Given the description of an element on the screen output the (x, y) to click on. 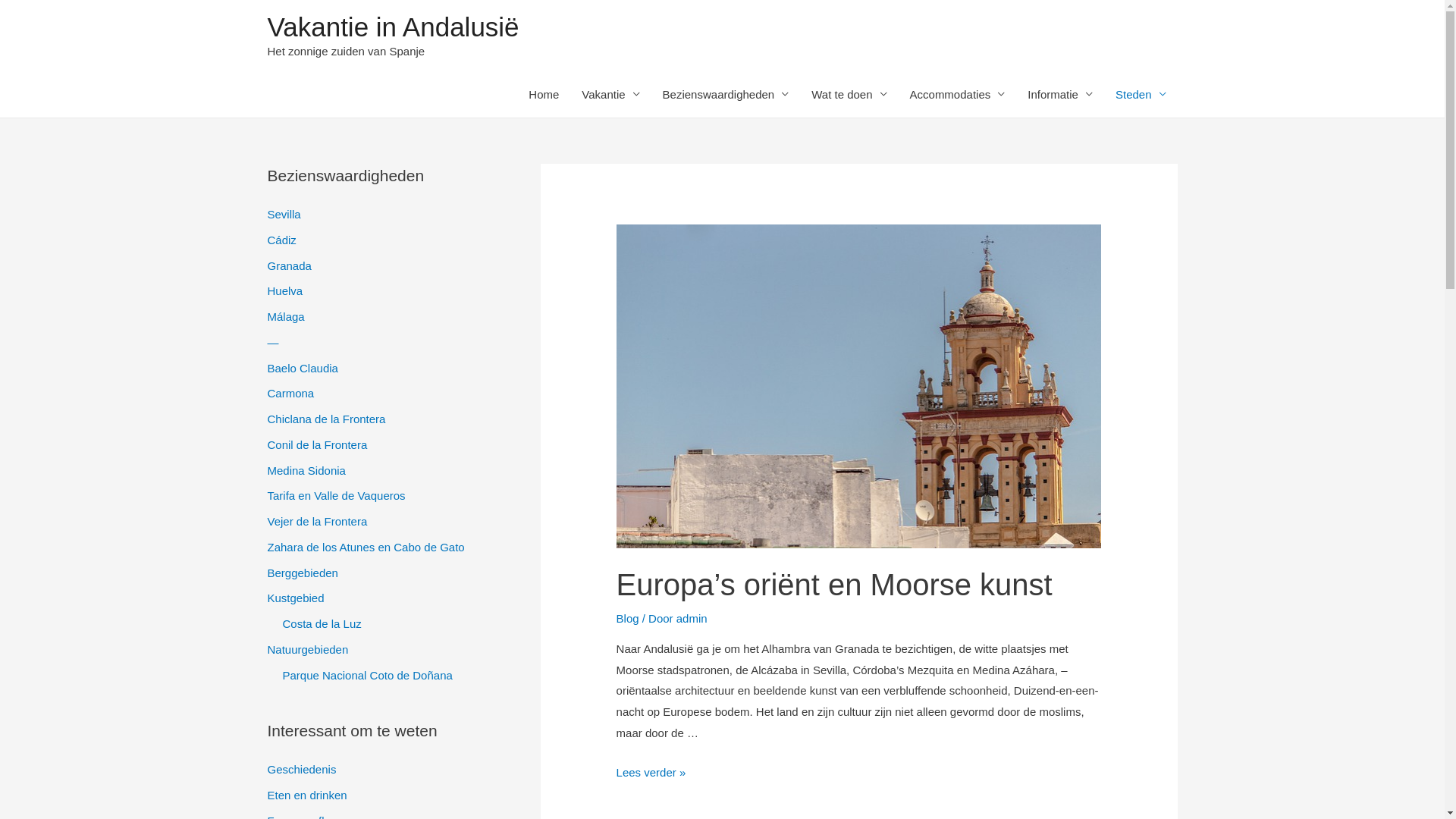
Costa de la Luz Element type: text (321, 623)
Baelo Claudia Element type: text (301, 366)
Accommodaties Element type: text (957, 93)
Sevilla Element type: text (283, 213)
Granada Element type: text (288, 265)
Medina Sidonia Element type: text (305, 470)
Steden Element type: text (1140, 93)
Carmona Element type: text (289, 392)
Blog Element type: text (627, 617)
Vakantie Element type: text (610, 93)
Zahara de los Atunes en Cabo de Gato Element type: text (365, 546)
Chiclana de la Frontera Element type: text (325, 418)
Tarifa en Valle de Vaqueros Element type: text (335, 495)
admin Element type: text (691, 617)
Home Element type: text (543, 93)
Berggebieden Element type: text (301, 571)
Geschiedenis Element type: text (300, 768)
Informatie Element type: text (1060, 93)
Eten en drinken Element type: text (306, 794)
Natuurgebieden Element type: text (307, 649)
Huelva Element type: text (284, 290)
Kustgebied Element type: text (294, 597)
Bezienswaardigheden Element type: text (725, 93)
Vejer de la Frontera Element type: text (316, 520)
Conil de la Frontera Element type: text (316, 444)
Wat te doen Element type: text (848, 93)
